Given the description of an element on the screen output the (x, y) to click on. 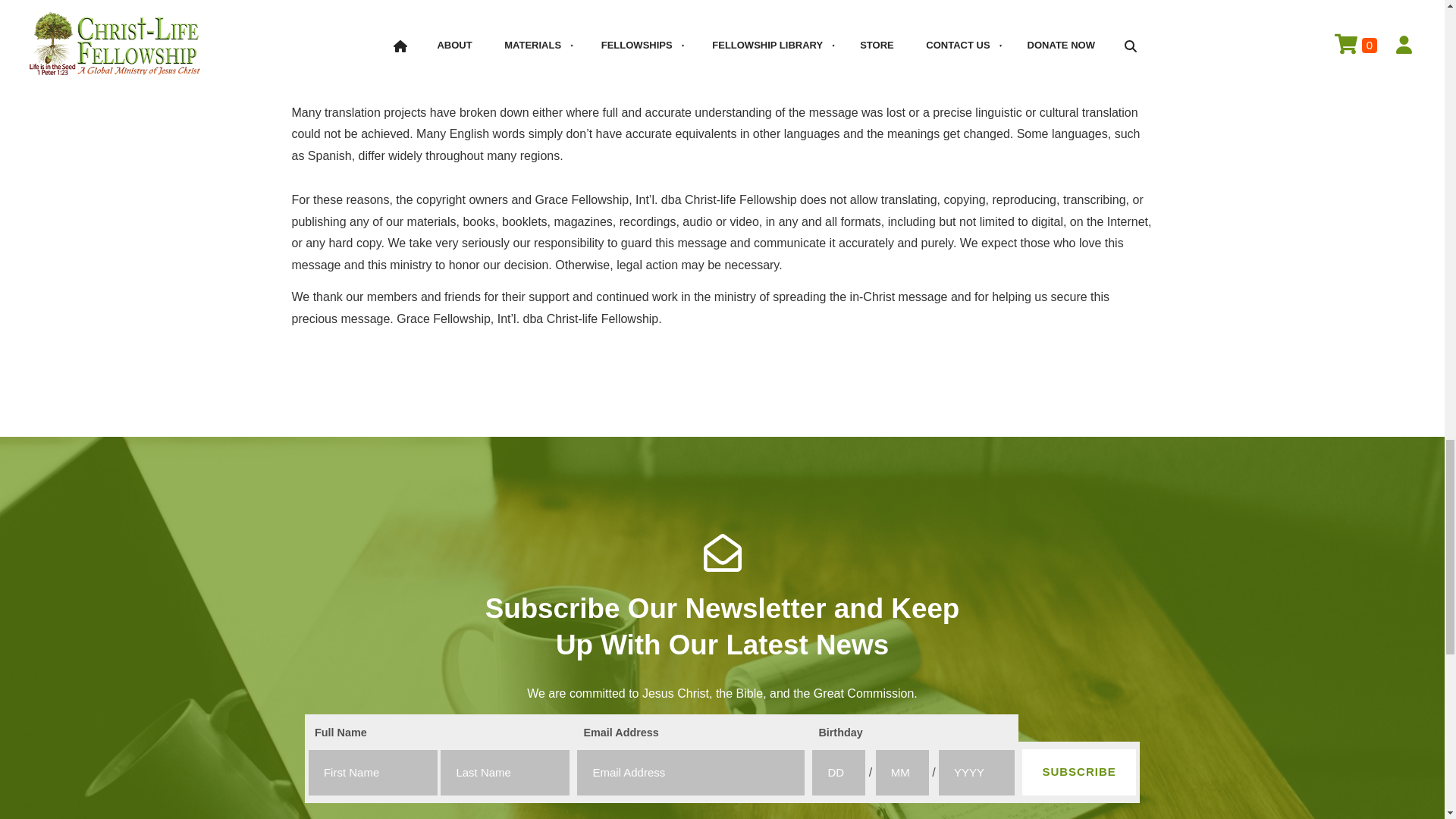
SUBSCRIBE (1078, 772)
Subscribe Our Newsletter and Keep (721, 608)
